Given the description of an element on the screen output the (x, y) to click on. 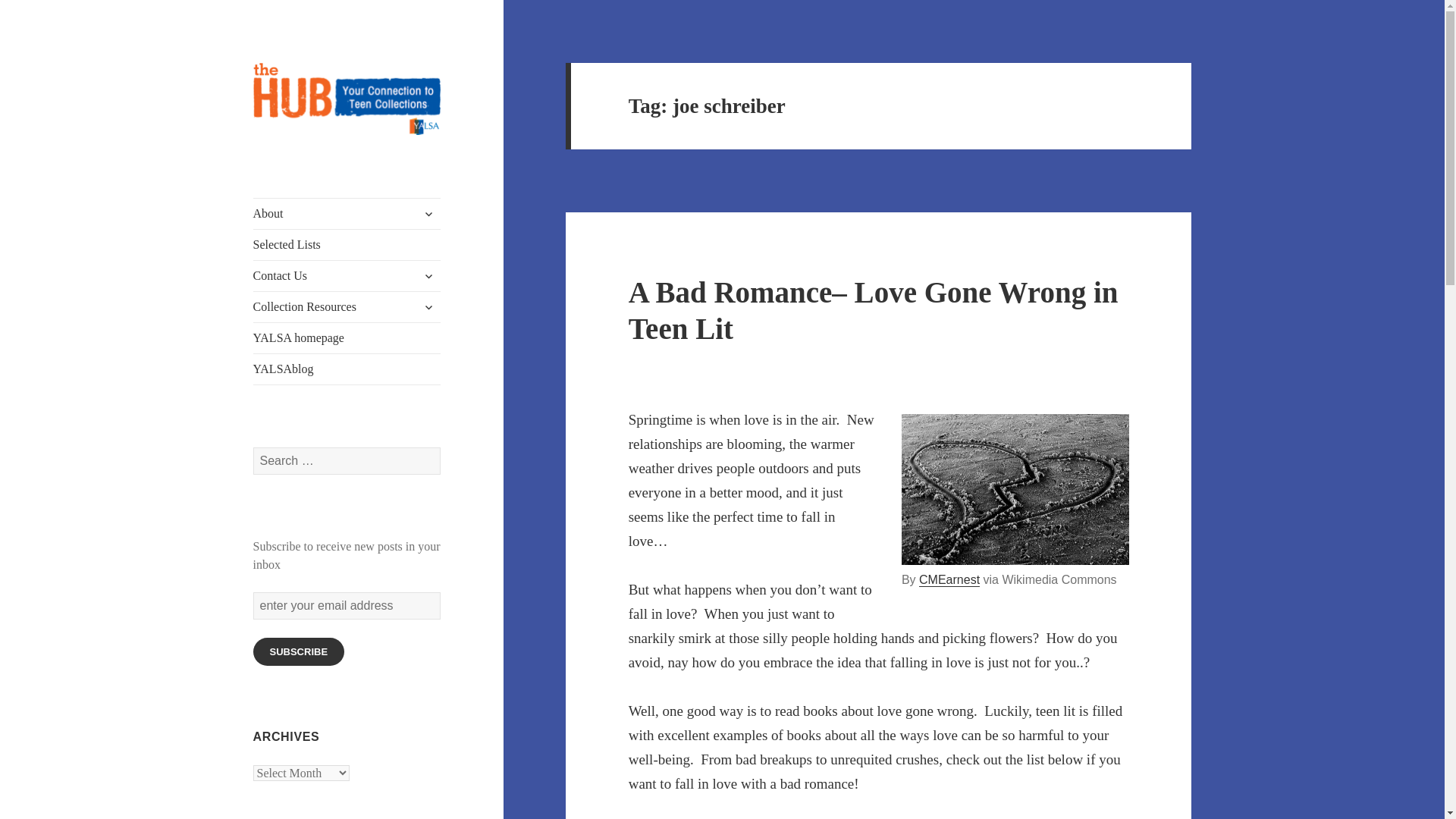
The Hub (293, 159)
expand child menu (428, 275)
CMEarnest (948, 580)
Collection Resources (347, 306)
expand child menu (428, 213)
Selected Lists (347, 245)
YALSA homepage (347, 337)
About (347, 214)
Contact Us (347, 276)
expand child menu (428, 306)
